Given the description of an element on the screen output the (x, y) to click on. 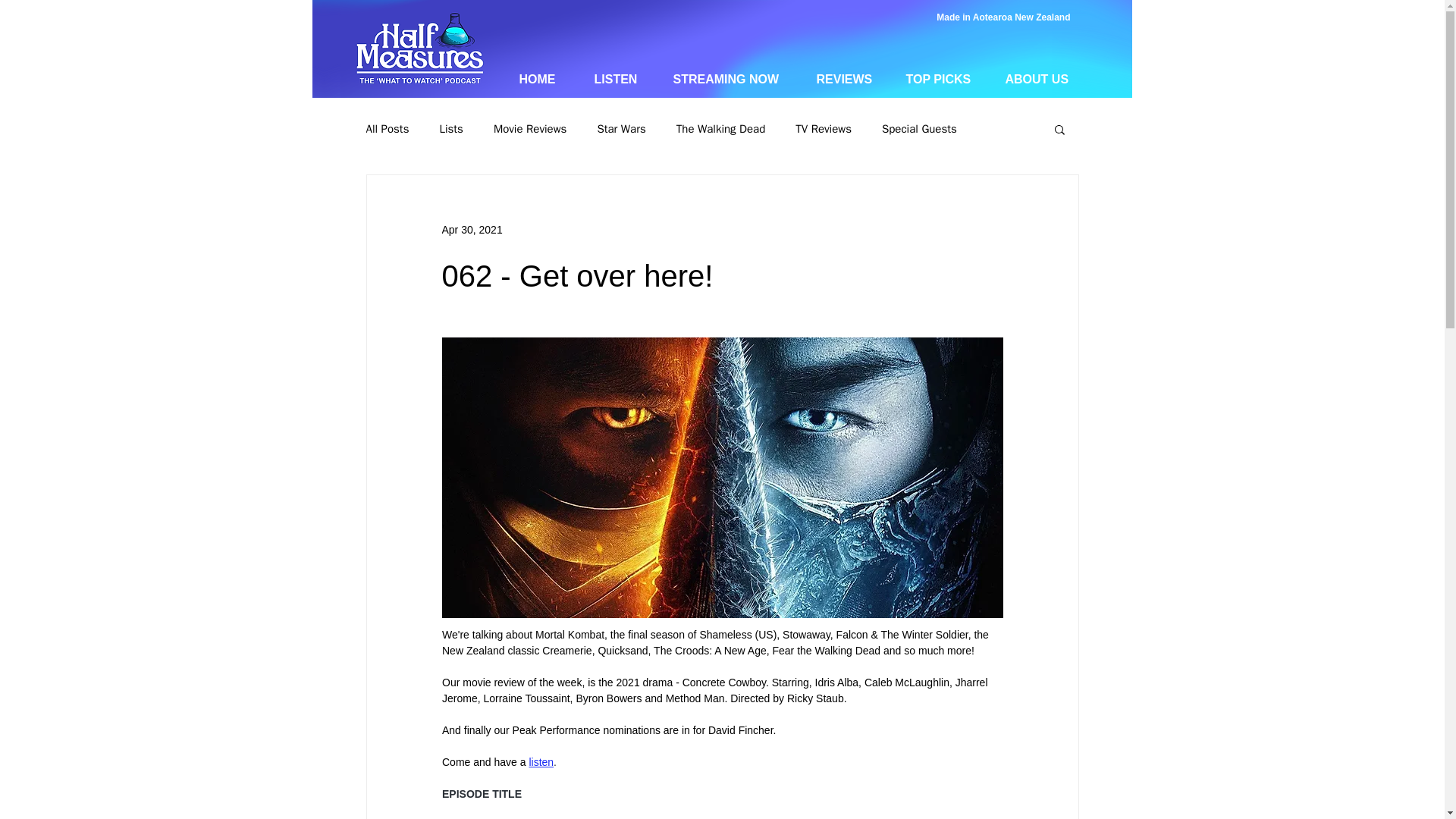
STREAMING NOW (733, 79)
TOP PICKS (944, 79)
All Posts (387, 128)
Special Guests (919, 128)
listen (540, 761)
ABOUT US (1042, 79)
Star Wars (620, 128)
The Walking Dead (721, 128)
Movie Reviews (529, 128)
REVIEWS (850, 79)
LISTEN (621, 79)
HOME (545, 79)
TV Reviews (822, 128)
Apr 30, 2021 (471, 228)
Lists (451, 128)
